Given the description of an element on the screen output the (x, y) to click on. 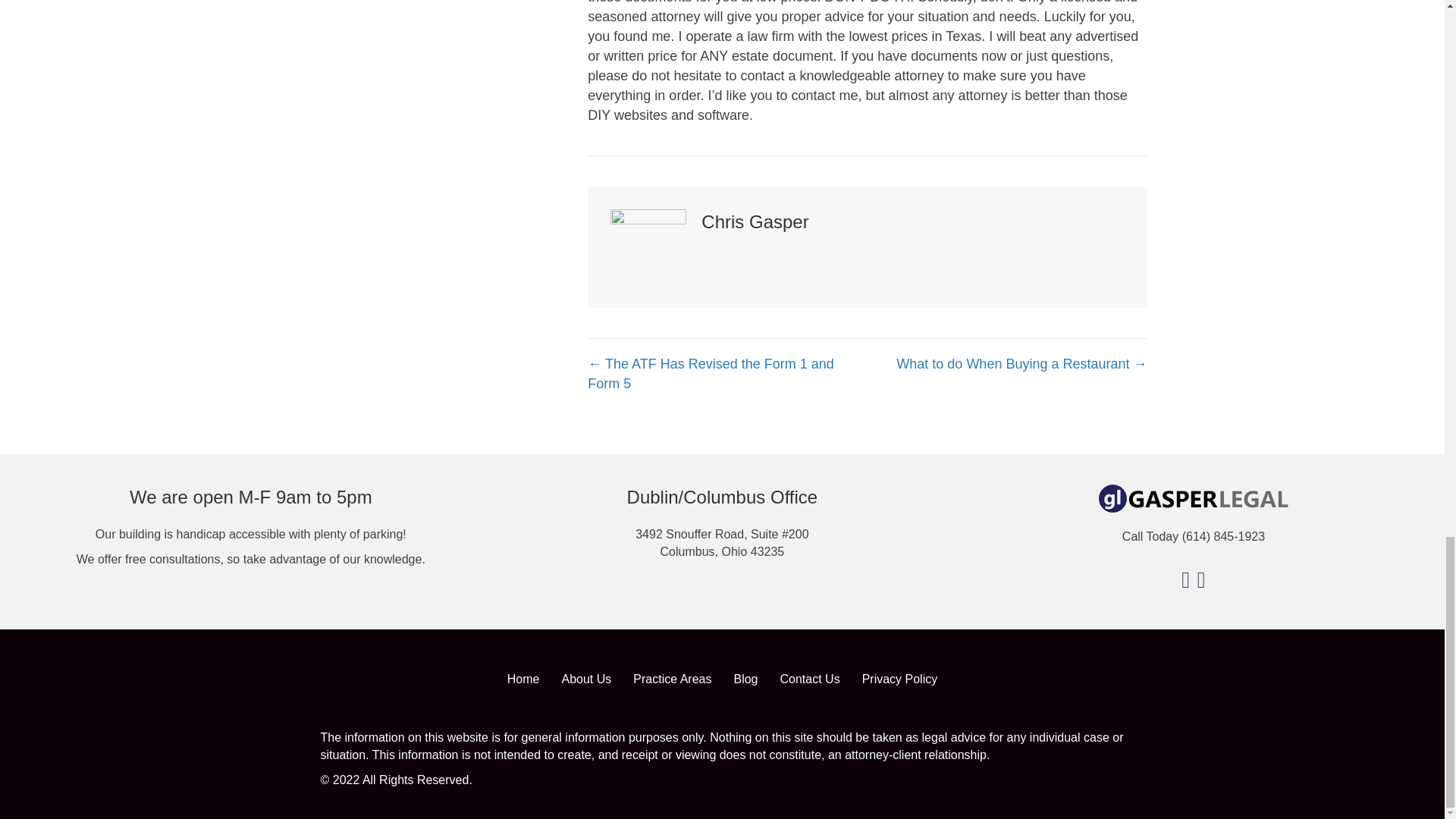
Contact Us (809, 679)
Privacy Policy (900, 679)
About Us (585, 679)
Practice Areas (672, 679)
Home (523, 679)
Blog (745, 679)
